Given the description of an element on the screen output the (x, y) to click on. 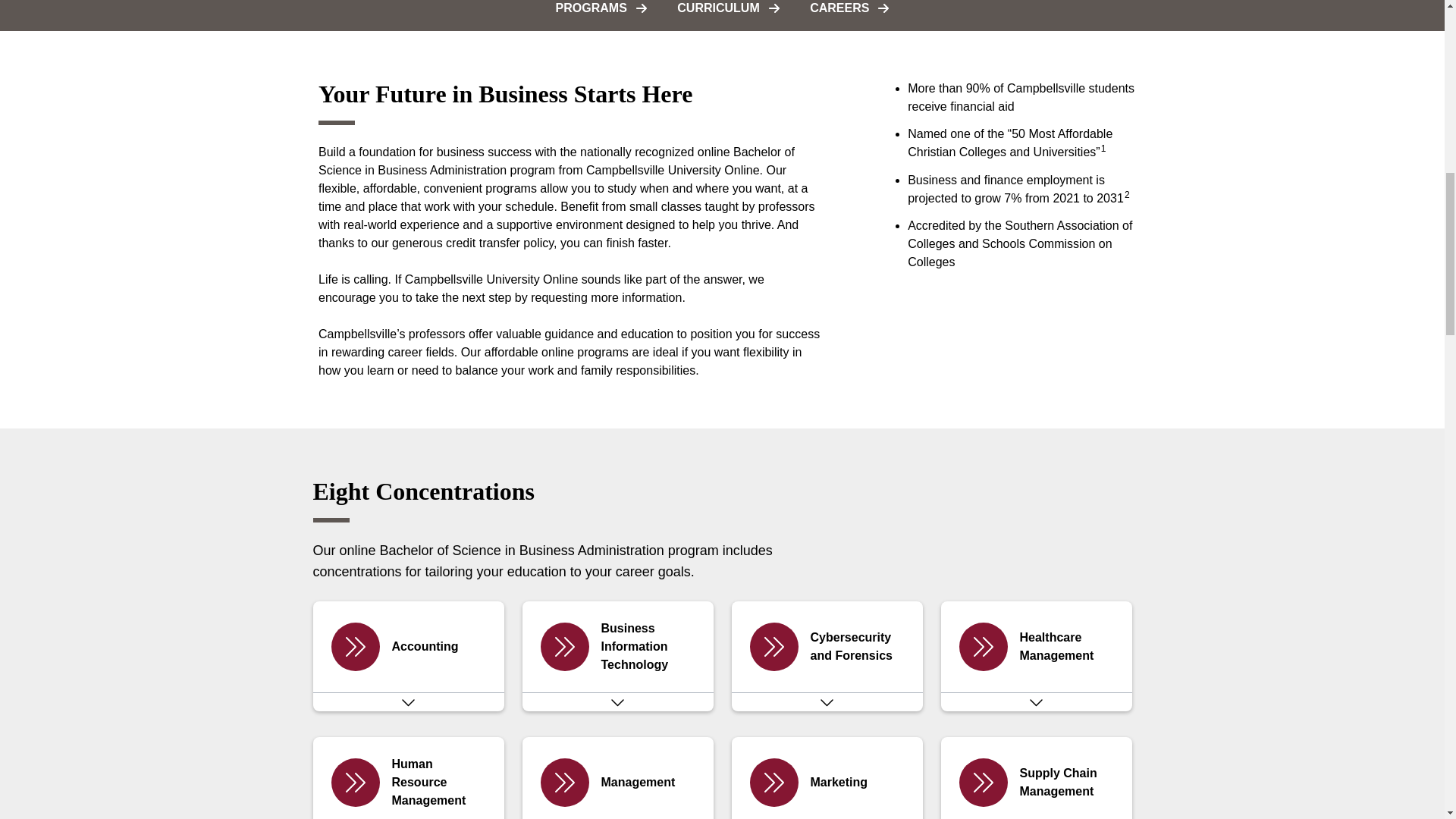
Supply Chain Management (1035, 778)
Healthcare Management (1035, 646)
Cybersecurity and Forensics (825, 646)
PROGRAMS (601, 15)
Business Information Technology (617, 646)
Accounting (408, 646)
CAREERS (849, 15)
Management (617, 778)
Human Resource Management (408, 778)
Marketing (825, 778)
CURRICULUM (727, 15)
